Given the description of an element on the screen output the (x, y) to click on. 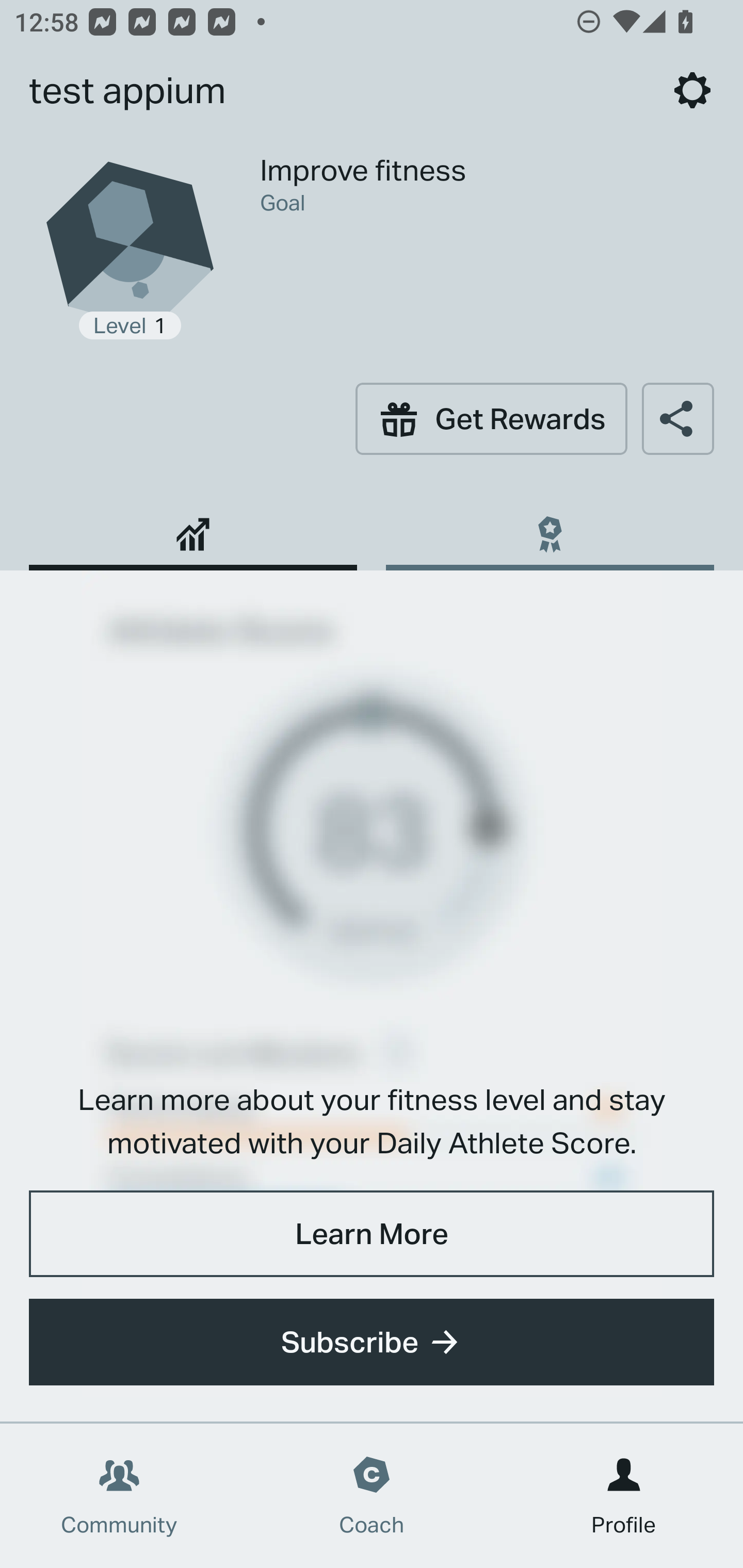
Settings (692, 90)
Get Rewards (491, 418)
Daily Athlete Score (192, 527)
Hall of Fame (549, 527)
Learn More (371, 1233)
Subscribe (371, 1342)
Community (119, 1495)
Coach (371, 1495)
